Given the description of an element on the screen output the (x, y) to click on. 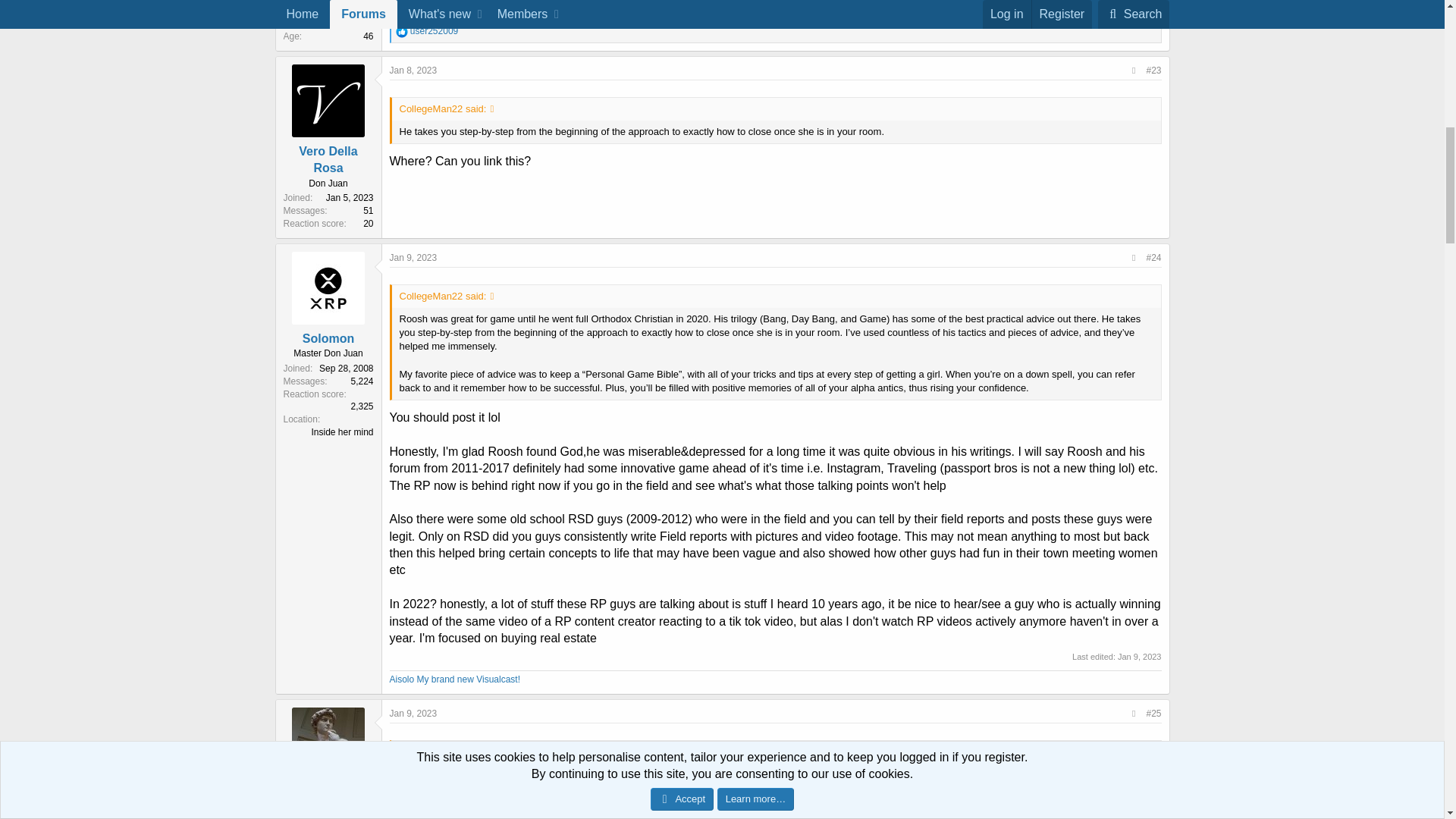
Jan 8, 2023 at 11:24 PM (414, 70)
Jan 9, 2023 at 5:43 PM (414, 713)
Jan 9, 2023 at 5:00 PM (414, 257)
Like (401, 31)
Jan 9, 2023 at 5:08 PM (1139, 655)
